Given the description of an element on the screen output the (x, y) to click on. 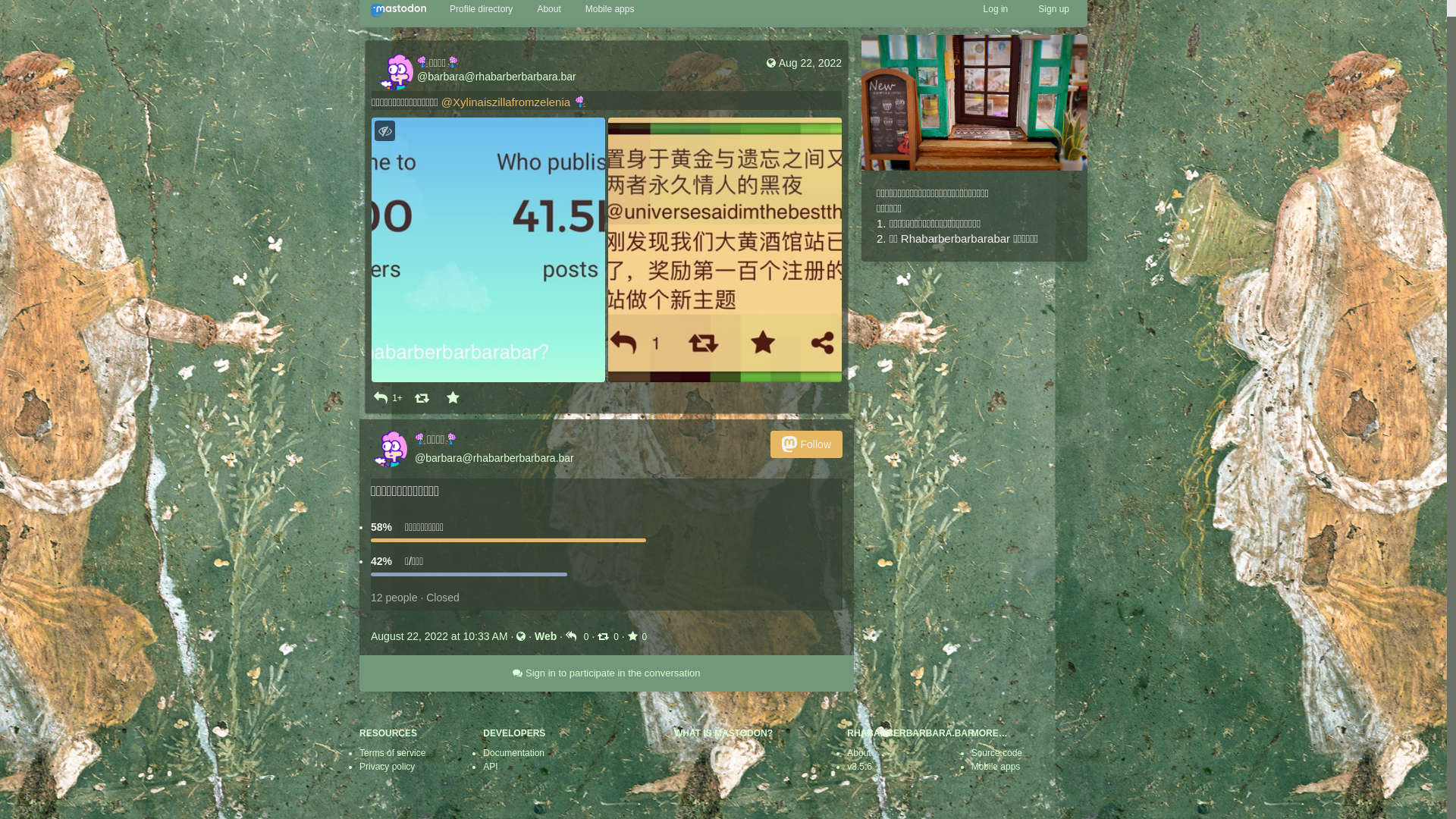
:bgl: Element type: hover (450, 455)
Sign up Element type: text (1053, 25)
Source code Element type: text (996, 769)
@Xylinaiszillafromzelenia Element type: text (505, 118)
Terms of service Element type: text (392, 769)
:bgr: Element type: hover (423, 78)
1+ Element type: text (386, 414)
Hide images Element type: hover (384, 147)
WHAT IS MASTODON? Element type: text (723, 749)
Sign in to participate in the conversation Element type: text (606, 689)
:bgr: Element type: hover (420, 455)
Log in Element type: text (995, 25)
0 Element type: text (637, 652)
0 Element type: text (609, 652)
Aug 22, 2022 Element type: text (802, 79)
:bgl: Element type: hover (451, 78)
Documentation Element type: text (513, 769)
August 22, 2022 at 10:33 AM Element type: text (440, 652)
Mobile apps Element type: text (995, 783)
Follow Element type: text (806, 460)
0 Element type: text (578, 652)
Mobile apps Element type: text (609, 25)
API Element type: text (490, 783)
About Element type: text (858, 769)
Profile directory Element type: text (480, 25)
Public Element type: hover (520, 652)
Privacy policy Element type: text (386, 783)
:Barbara_glowstick: Element type: hover (580, 118)
Public Element type: hover (770, 79)
About Element type: text (548, 25)
